Given the description of an element on the screen output the (x, y) to click on. 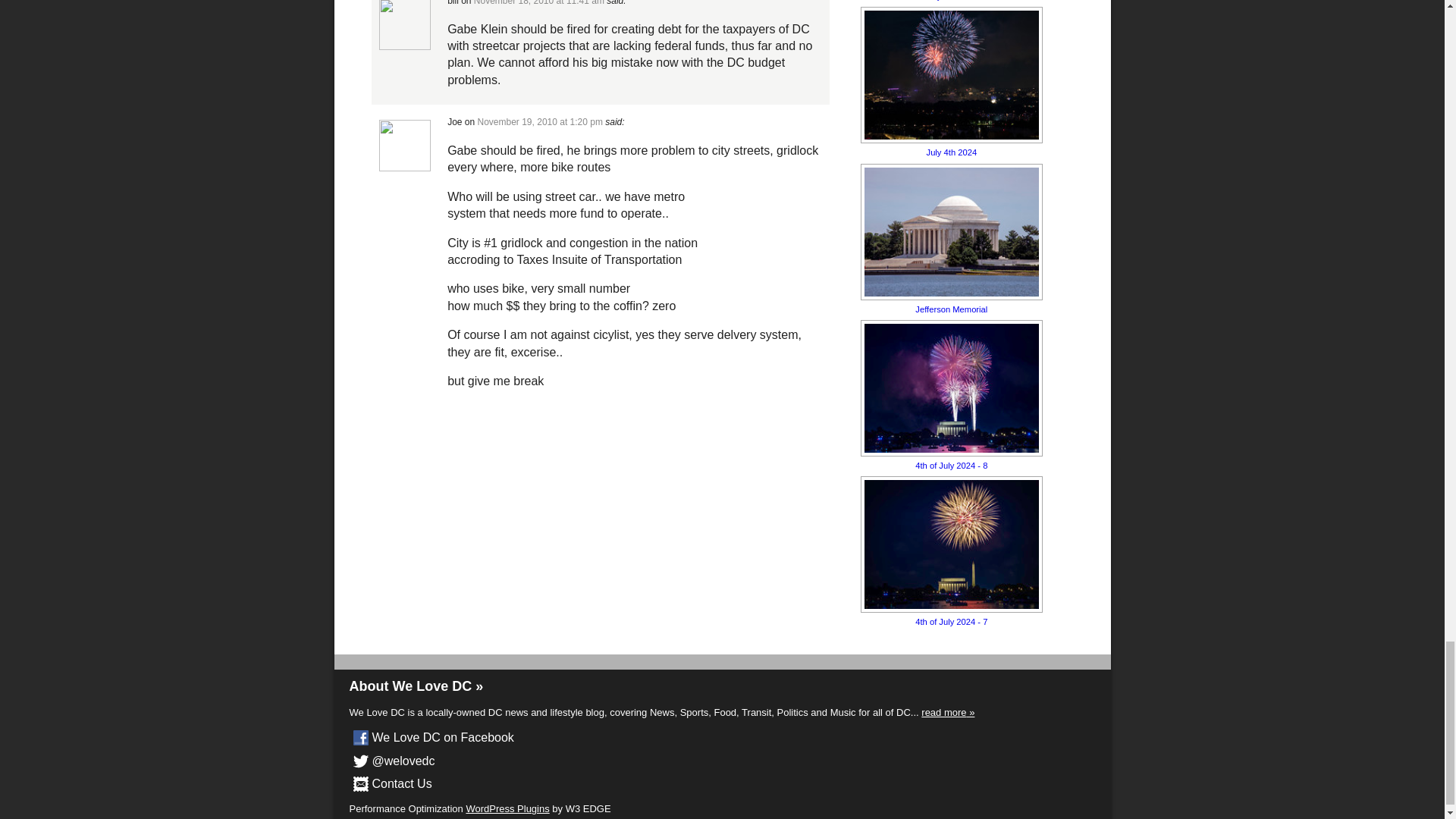
November 18, 2010 at 11:41 am (539, 2)
